Given the description of an element on the screen output the (x, y) to click on. 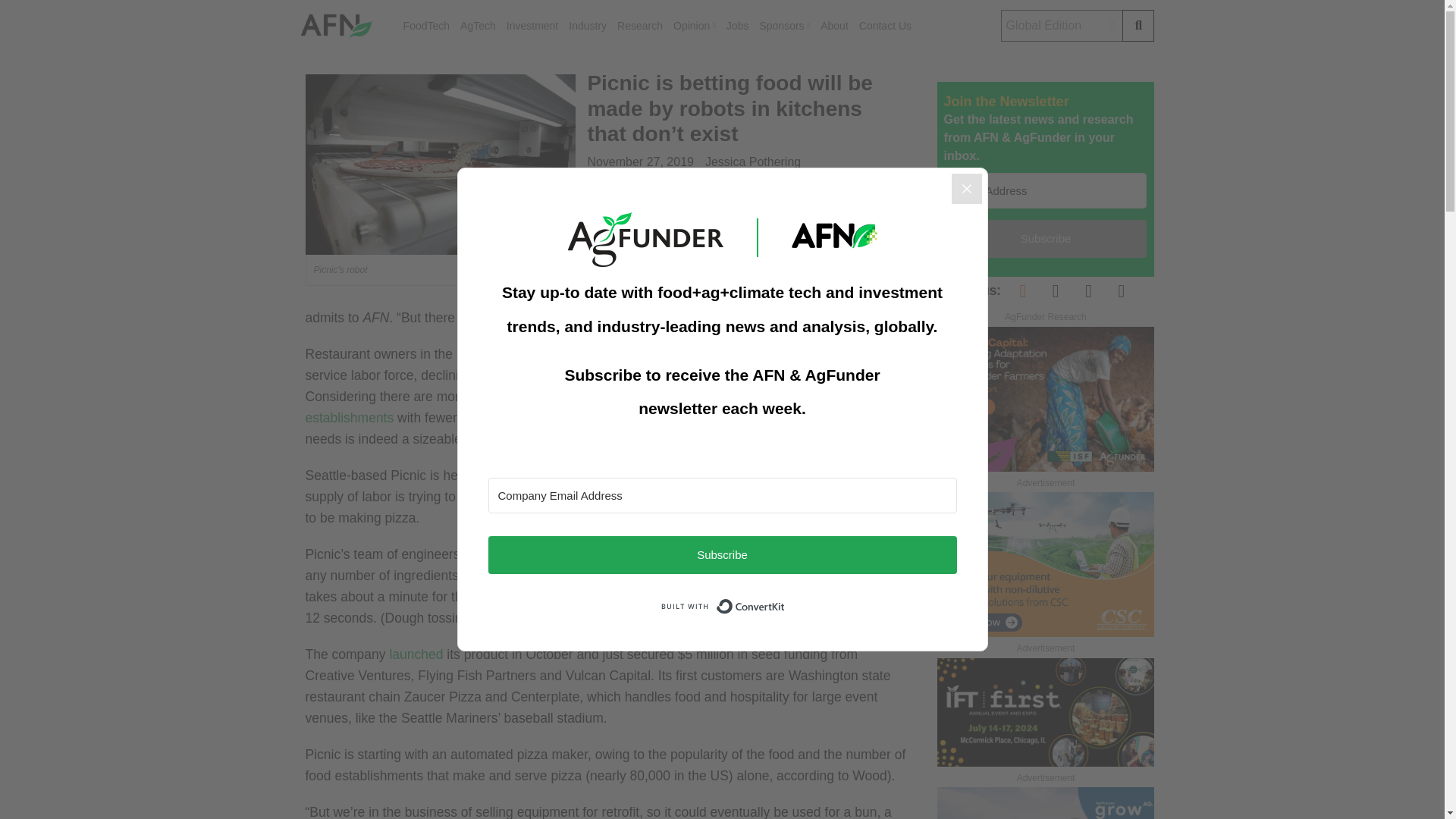
Sponsors (783, 25)
Industry (588, 25)
Research (639, 25)
Contact Us (885, 25)
FoodTech (426, 25)
Opinion (694, 25)
AgTech (478, 25)
Investment (531, 25)
